Given the description of an element on the screen output the (x, y) to click on. 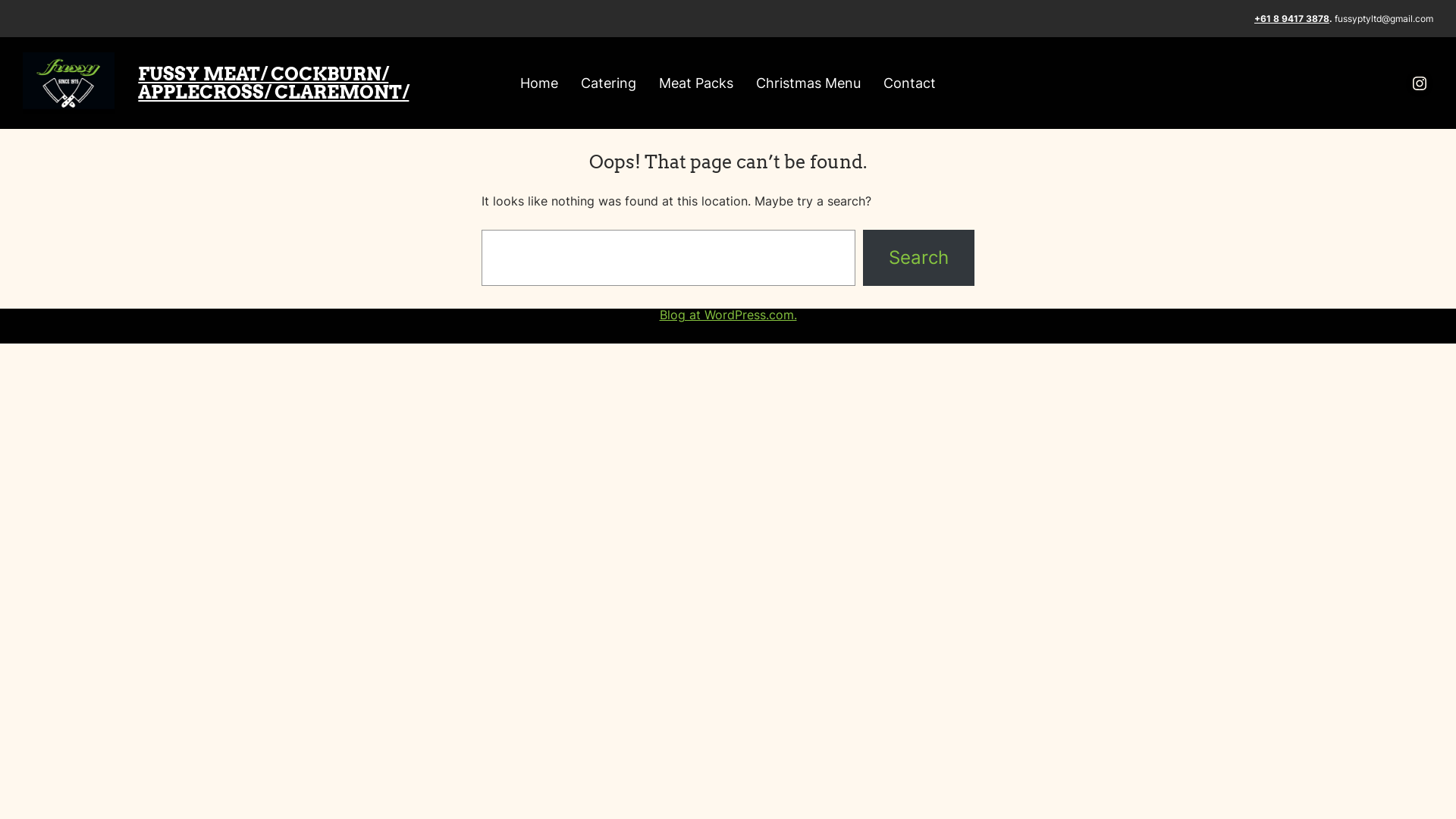
+61 8 9417 3878 Element type: text (1291, 18)
Catering Element type: text (608, 83)
Blog at WordPress.com. Element type: text (728, 314)
Search Element type: text (918, 257)
Contact Element type: text (909, 83)
Christmas Menu Element type: text (808, 83)
Instagram Element type: text (1419, 83)
FUSSY MEAT/ COCKBURN/ APPLECROSS/ CLAREMONT/ Element type: text (273, 82)
Meat Packs Element type: text (695, 83)
Home Element type: text (539, 83)
